Given the description of an element on the screen output the (x, y) to click on. 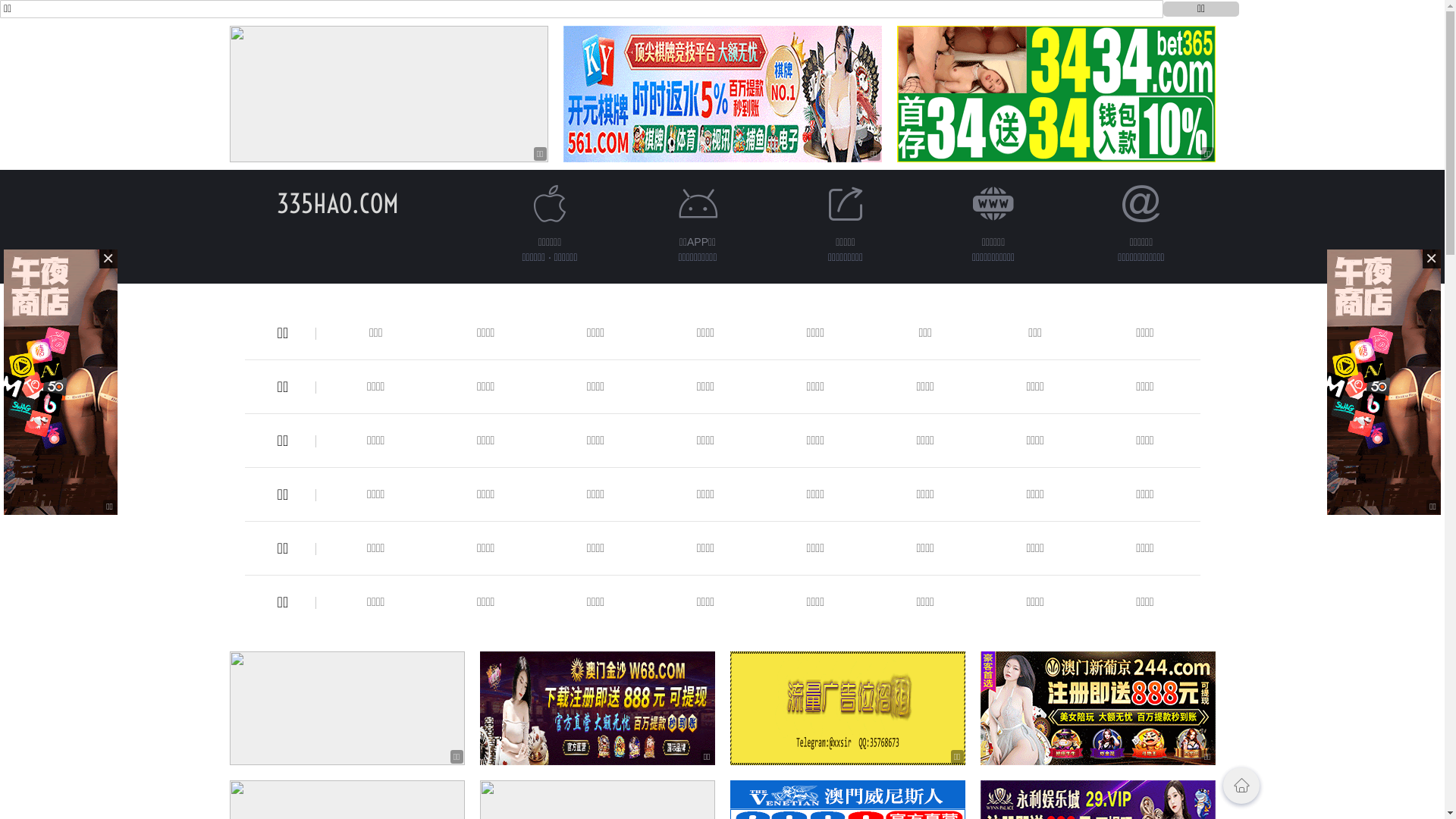
335HAO.COM Element type: text (337, 203)
